Given the description of an element on the screen output the (x, y) to click on. 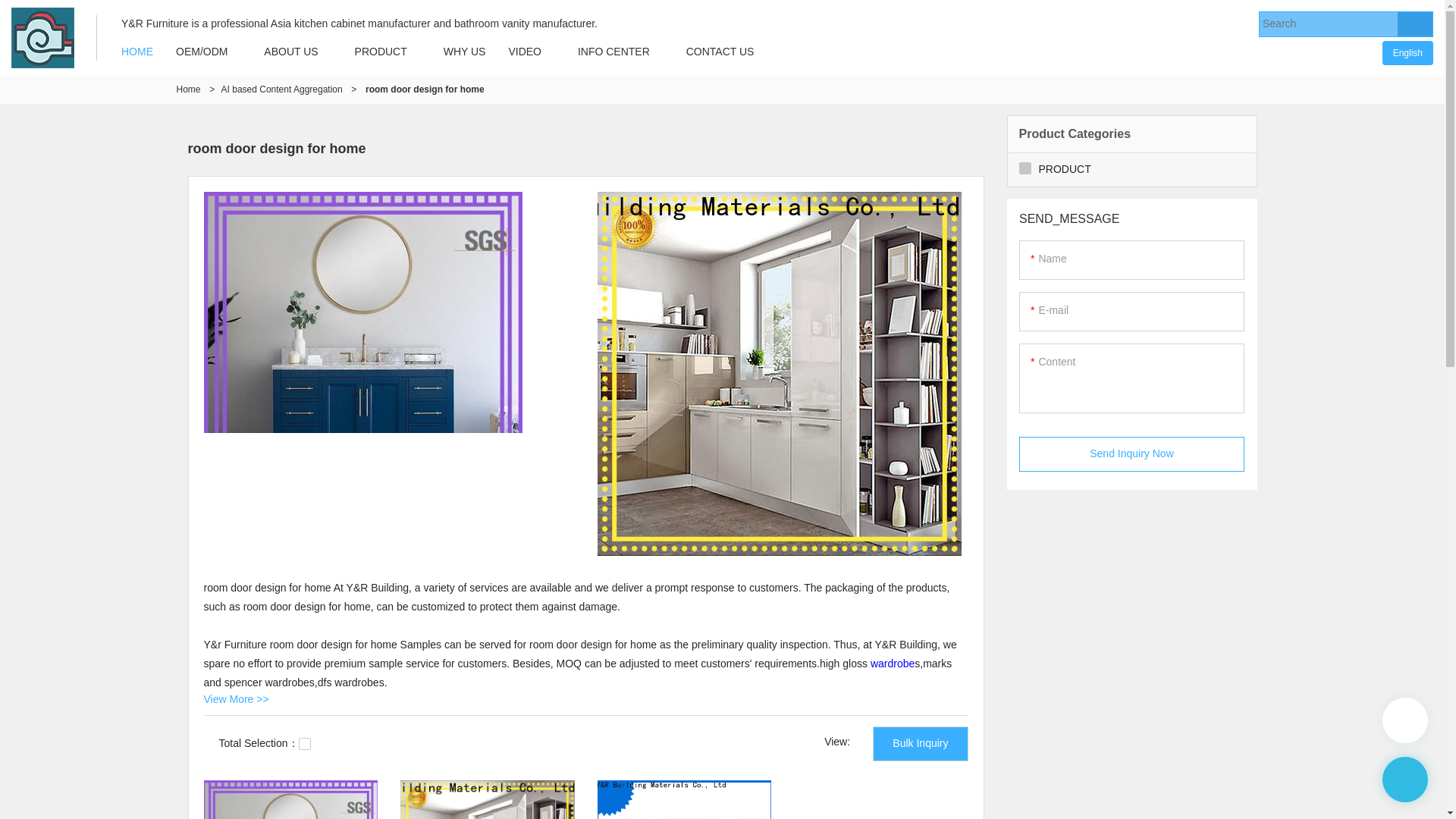
WHY US (464, 51)
PRODUCT (381, 51)
ABOUT US (290, 51)
HOME (137, 51)
INFO CENTER (613, 51)
AI based Content Aggregation (281, 89)
wardrobe (892, 663)
on (304, 743)
CONTACT US (720, 51)
VIDEO (524, 51)
